Given the description of an element on the screen output the (x, y) to click on. 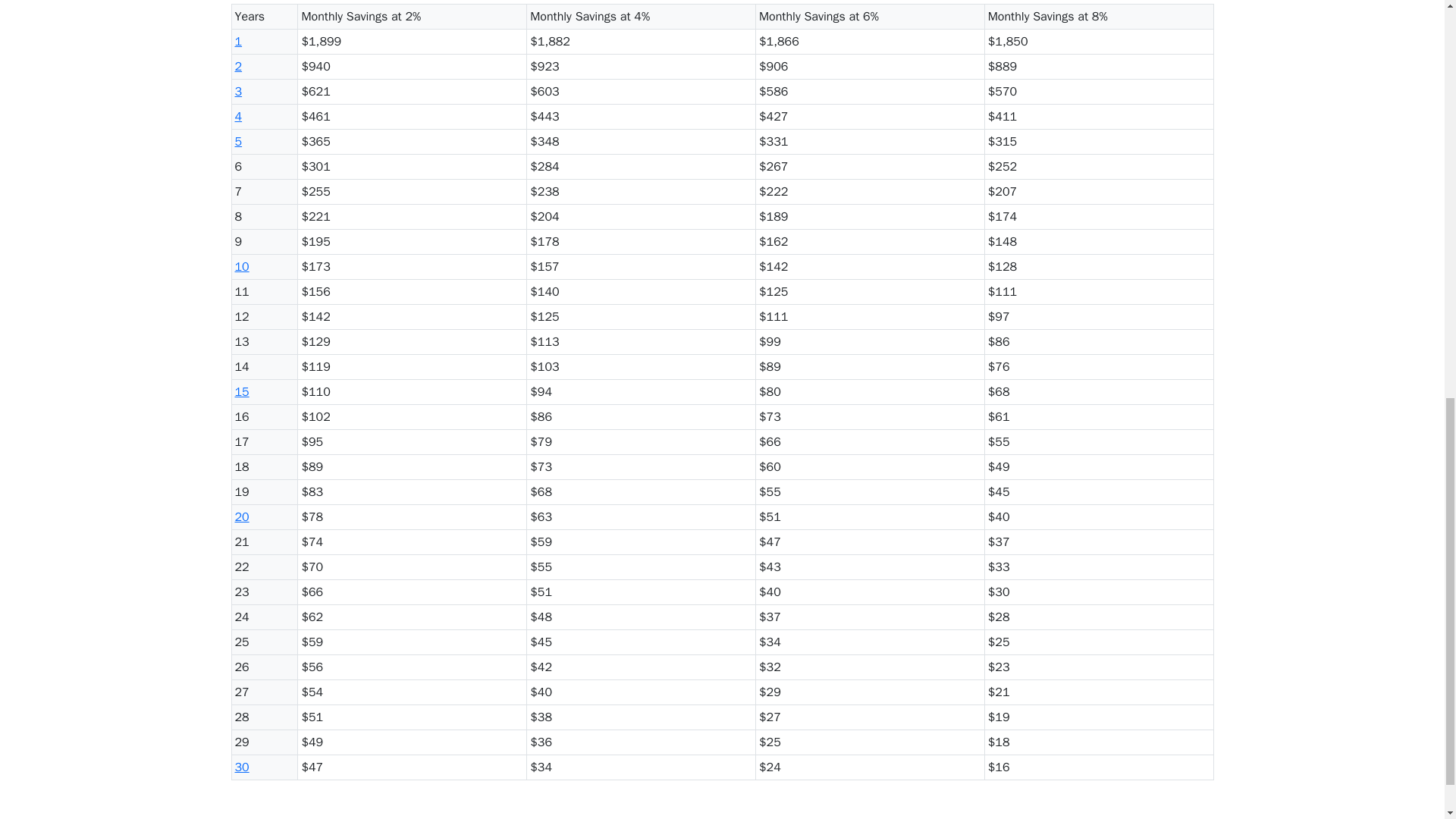
30 (241, 767)
20 (241, 516)
10 (241, 266)
15 (241, 391)
